Given the description of an element on the screen output the (x, y) to click on. 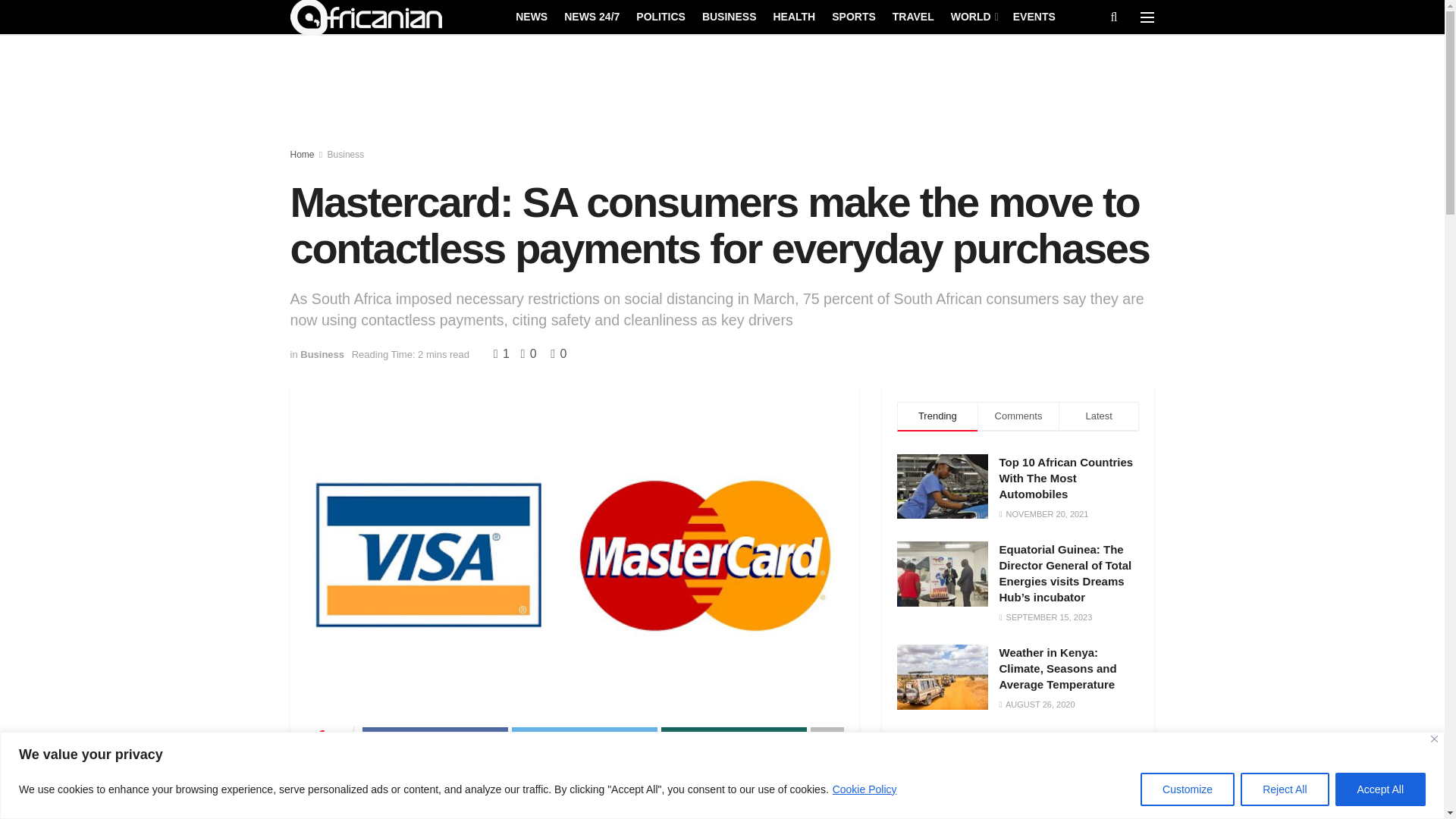
Cookie Policy (864, 789)
TRAVEL (913, 16)
Accept All (1380, 788)
EVENTS (1034, 16)
Home (301, 154)
Business (346, 154)
Customize (1187, 788)
HEALTH (794, 16)
Advertisement (722, 92)
Advertisement (1017, 794)
POLITICS (660, 16)
BUSINESS (729, 16)
NEWS (531, 16)
WORLD (972, 16)
SPORTS (853, 16)
